Given the description of an element on the screen output the (x, y) to click on. 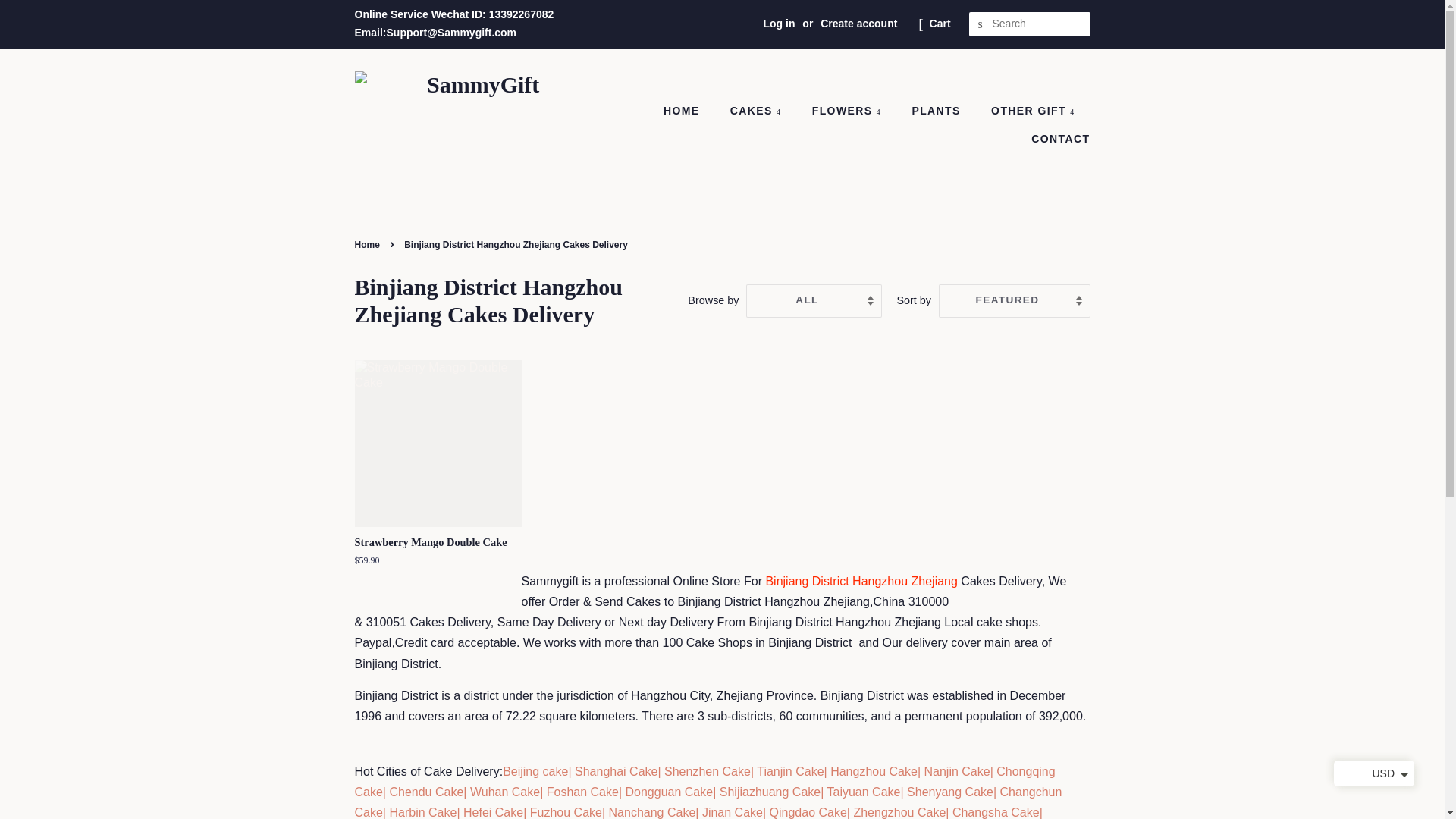
Tianjin cake delivery (790, 771)
Shenzhen cake delivery (707, 771)
Log in (778, 23)
SEARCH (980, 24)
Create account (858, 23)
Cart (940, 24)
Hangzhou cake delivery (872, 771)
Chendu cake delivery (425, 791)
Beijing cake delivery (534, 771)
Chongqing cake delivery (705, 781)
